Given the description of an element on the screen output the (x, y) to click on. 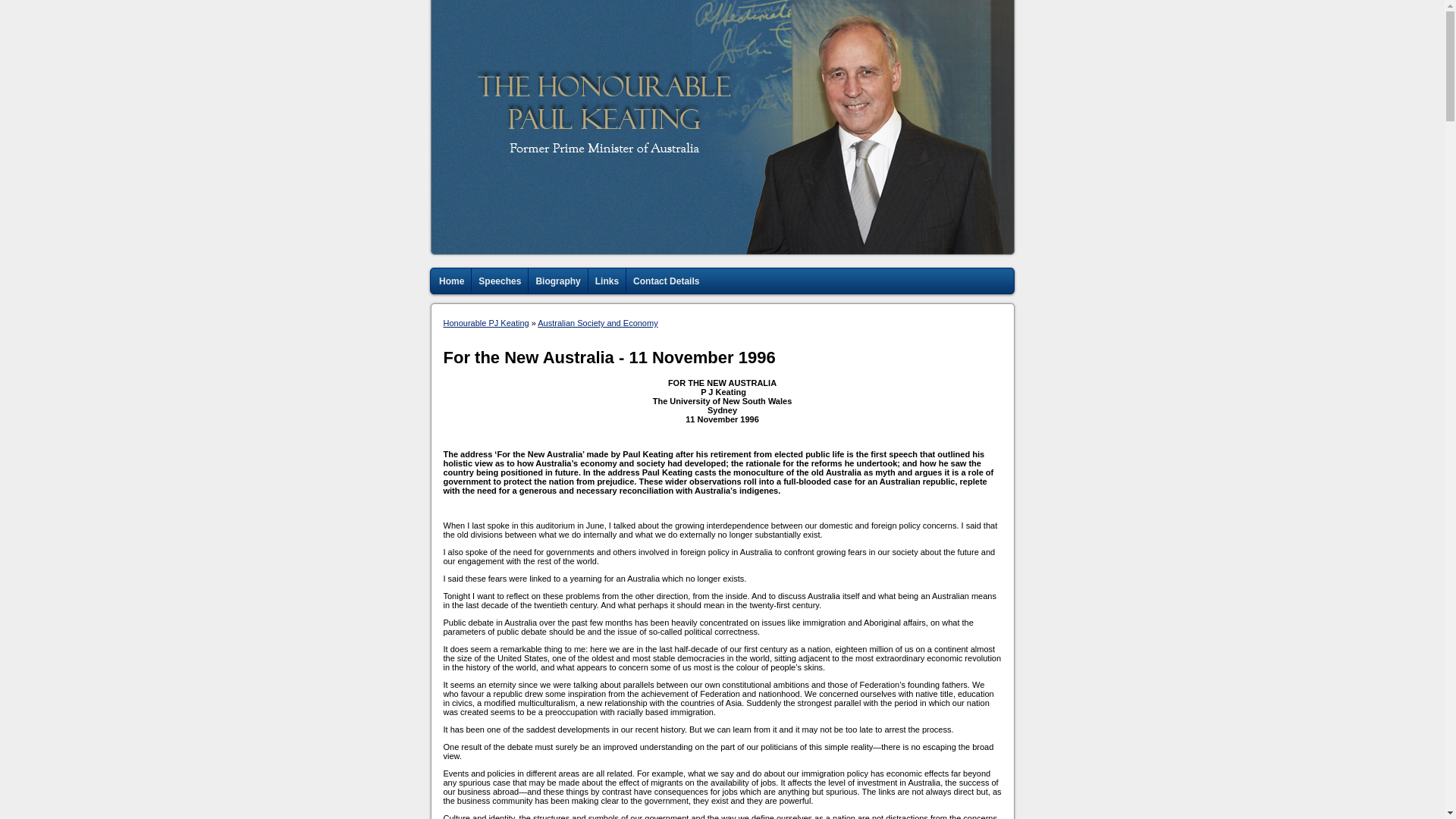
Australian Society and Economy Element type: text (597, 322)
Links Element type: text (606, 280)
Home Element type: text (451, 280)
Honourable PJ Keating Element type: text (485, 322)
Speeches Element type: text (498, 280)
Biography Element type: text (556, 280)
Contact Details Element type: text (665, 280)
